Given the description of an element on the screen output the (x, y) to click on. 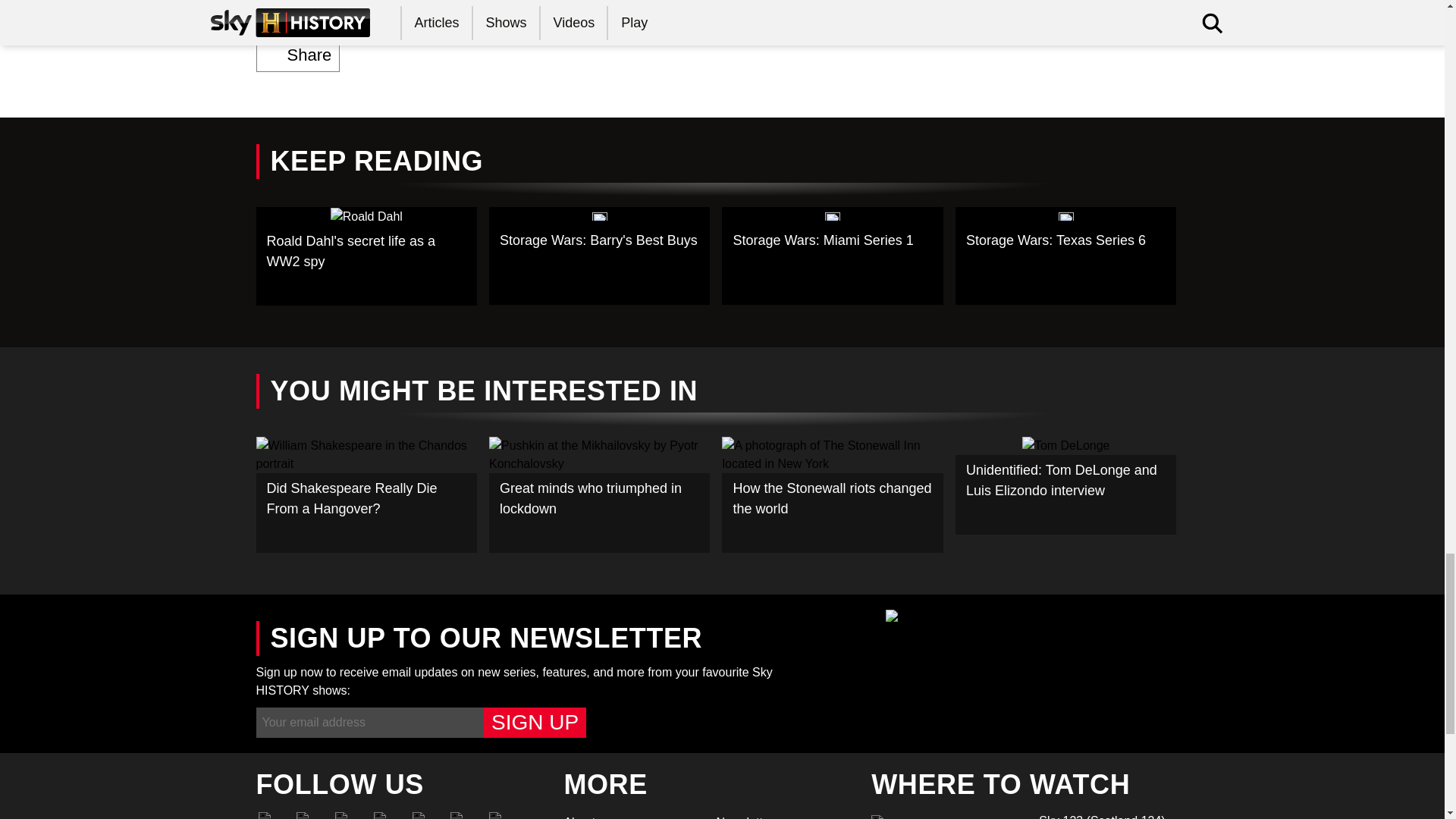
Did Shakespeare Really Die From a Hangover? (366, 494)
Storage Wars: Barry's Best Buys (599, 255)
Storage Wars: Miami Series 1 (832, 255)
Unidentified: Tom DeLonge and Luis Elizondo interview (1065, 485)
Roald Dahl's secret life as a WW2 spy (366, 256)
Great minds who triumphed in lockdown (599, 494)
Storage Wars: Texas Series 6 (1065, 255)
HISTORY Newsletter (783, 816)
Sign Up (534, 722)
How the Stonewall riots changed the world (832, 494)
